Given the description of an element on the screen output the (x, y) to click on. 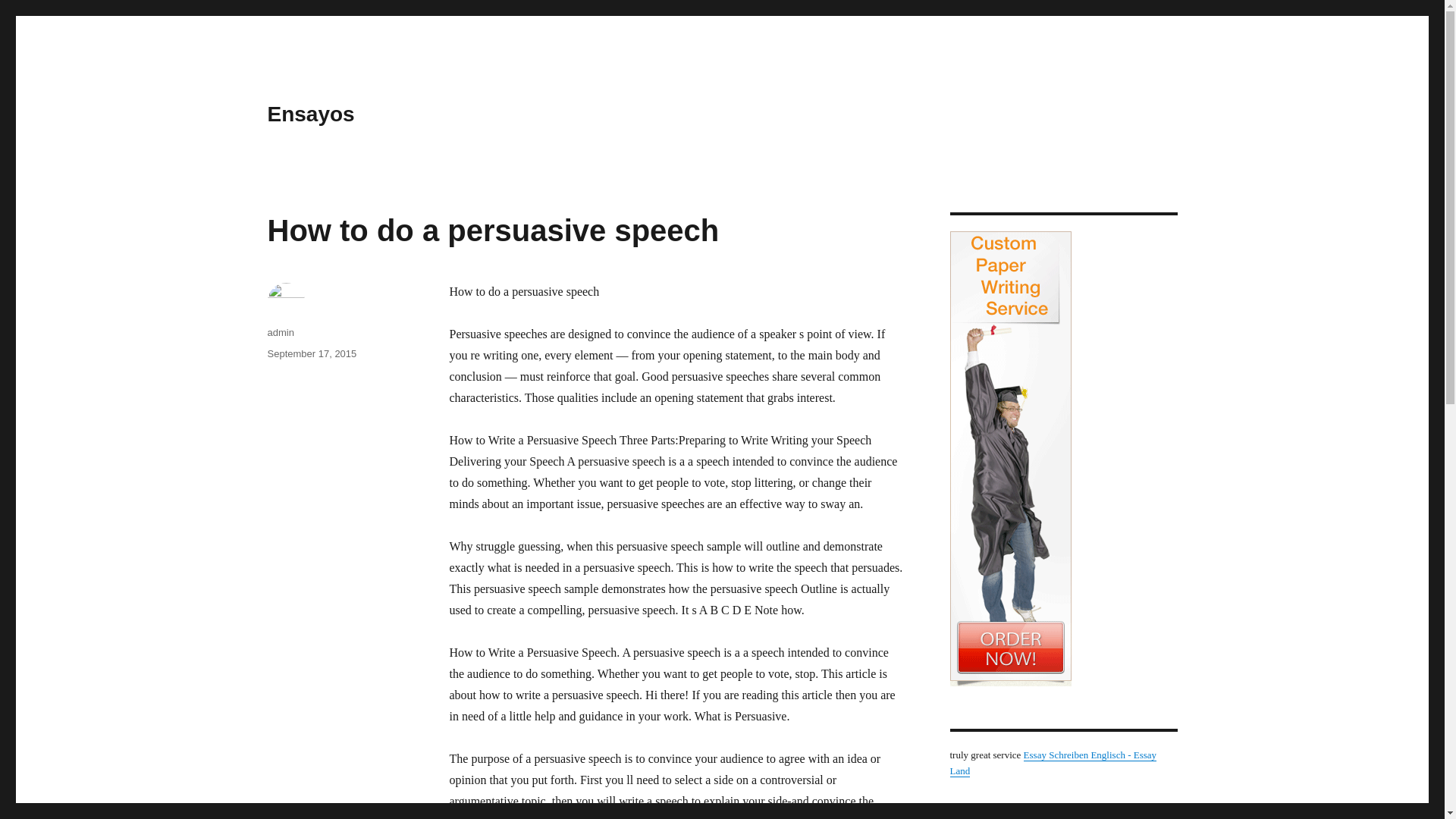
Essay Schreiben Englisch - Essay Land (1052, 762)
admin (280, 332)
Ensayos (309, 114)
September 17, 2015 (311, 353)
